Given the description of an element on the screen output the (x, y) to click on. 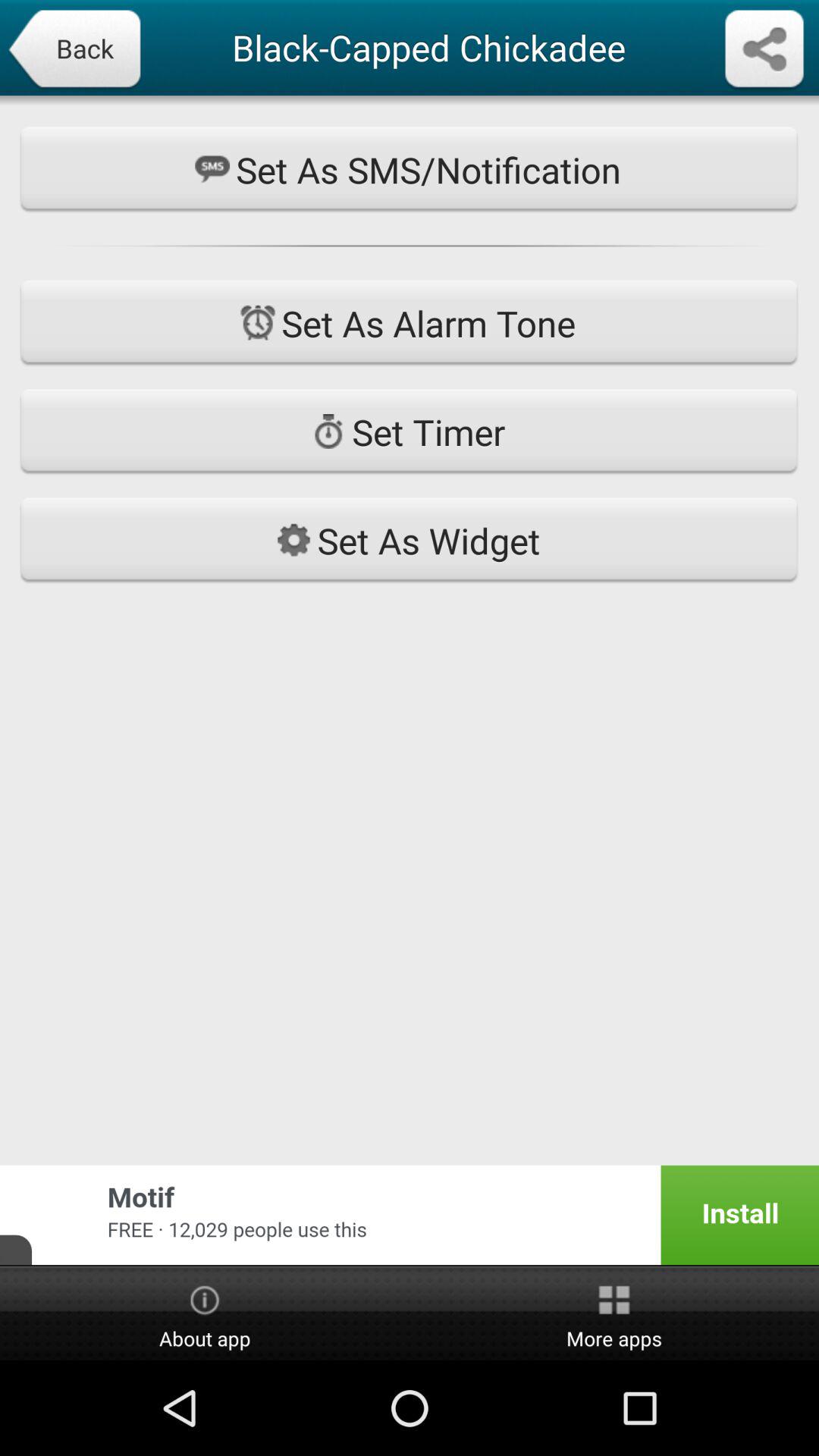
select the app to the right of black-capped chickadee icon (764, 50)
